Given the description of an element on the screen output the (x, y) to click on. 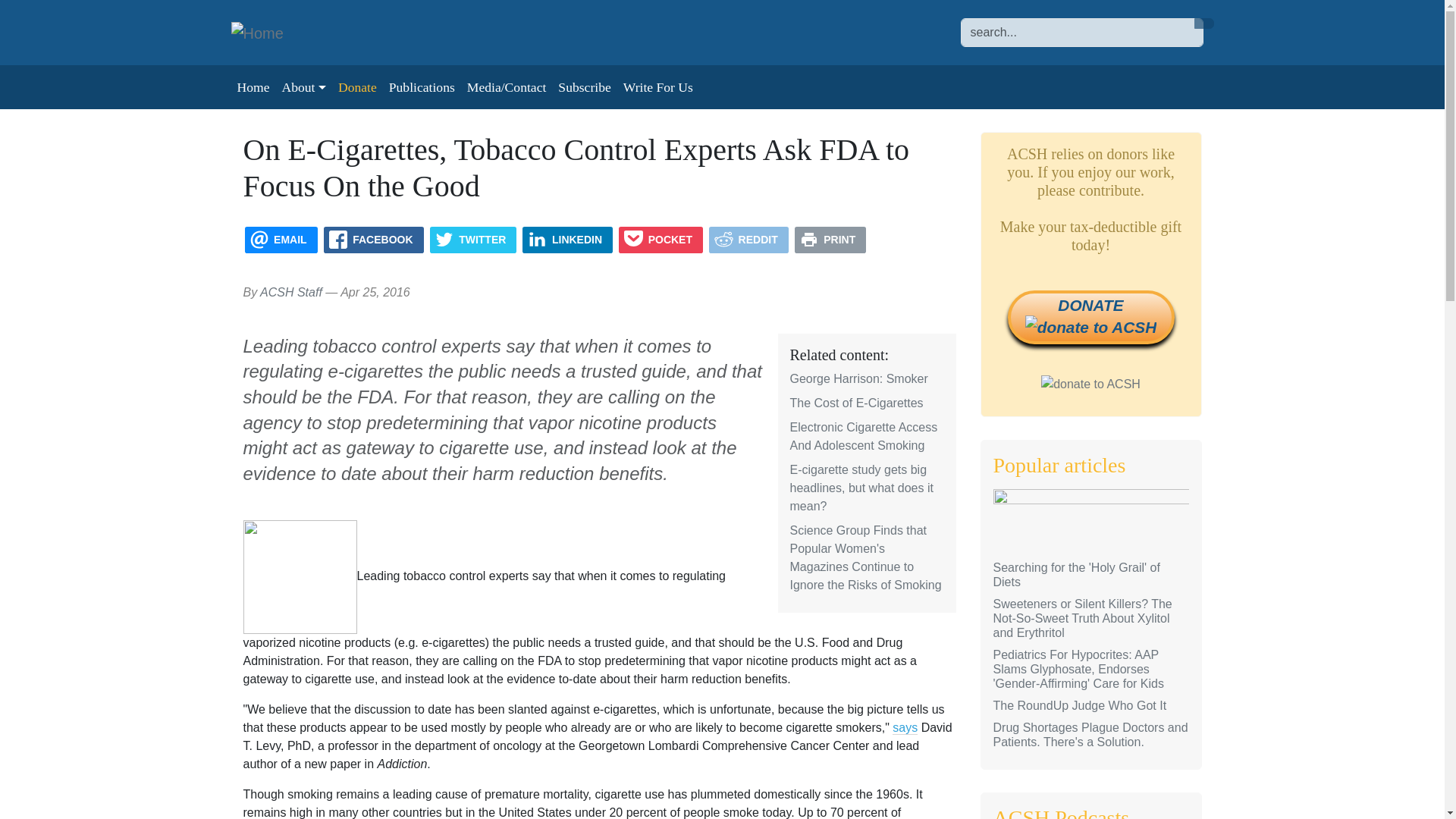
Write For Us (657, 87)
E-cigarette study gets big headlines, but what does it mean? (861, 487)
Subscribe (583, 87)
LINKEDIN (567, 239)
says (904, 727)
EMAIL (280, 239)
The Cost of E-Cigarettes (856, 402)
Publications (421, 87)
Home (262, 32)
ACSH Staff (290, 291)
